Given the description of an element on the screen output the (x, y) to click on. 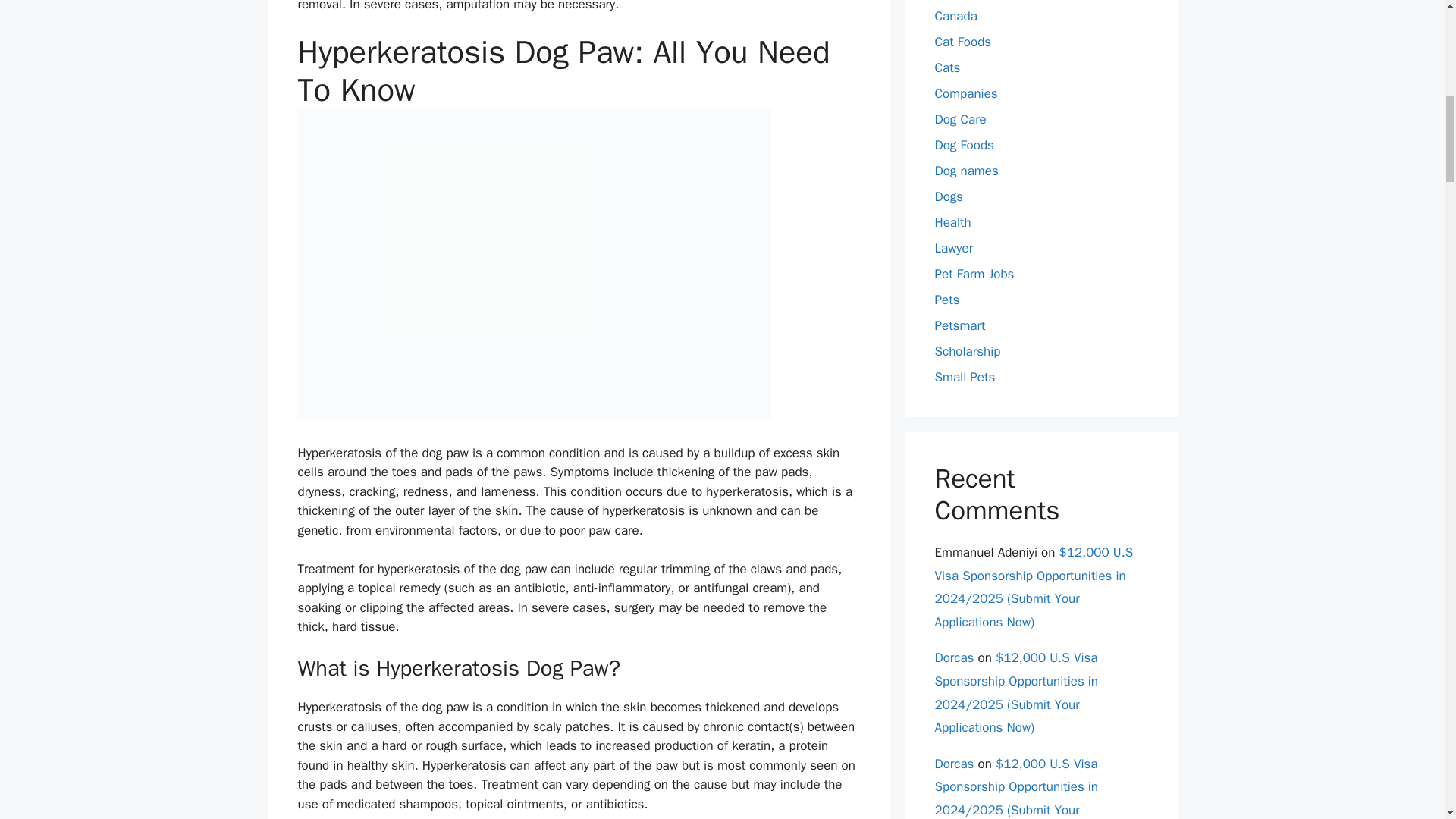
Cats (946, 66)
Health (952, 221)
Dog Care (959, 118)
Dog names (965, 170)
Dog Foods (963, 144)
Pet-Farm Jobs (973, 273)
Dogs (948, 195)
Petsmart (959, 324)
Cat Foods (962, 41)
Pets (946, 299)
Lawyer (953, 247)
Canada (955, 15)
Scroll back to top (1406, 720)
Companies (965, 92)
